Given the description of an element on the screen output the (x, y) to click on. 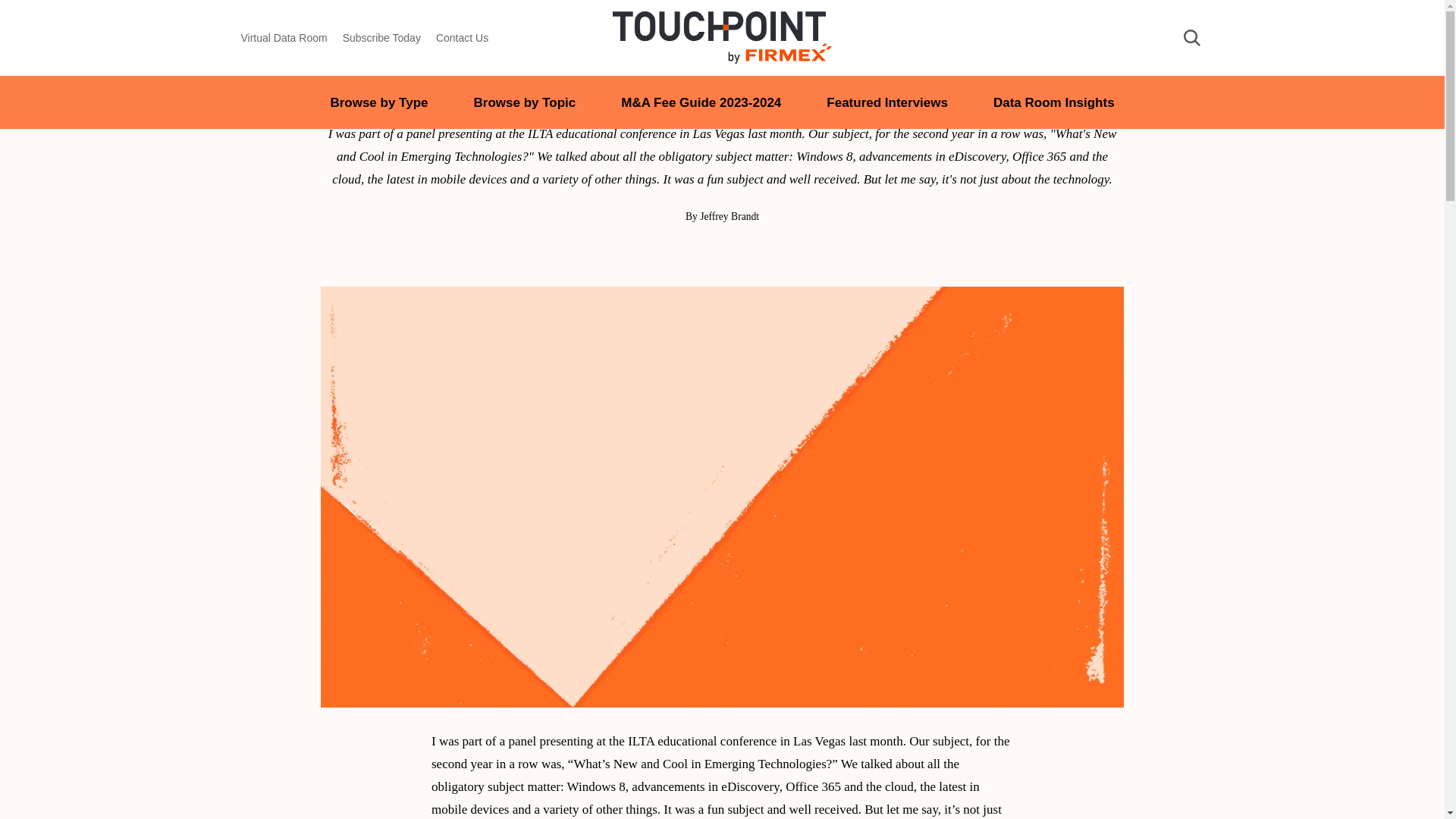
Click to share on LinkedIn (689, 253)
Browse by Type (379, 102)
Subscribe Today (381, 37)
Click to share on Twitter (721, 253)
Virtual Data Room (284, 37)
Data Room Insights (1053, 102)
Click to share on Facebook (753, 253)
Browse by Topic (525, 102)
Featured Interviews (887, 102)
Contact Us (461, 37)
UNCATEGORIZED (722, 59)
